Given the description of an element on the screen output the (x, y) to click on. 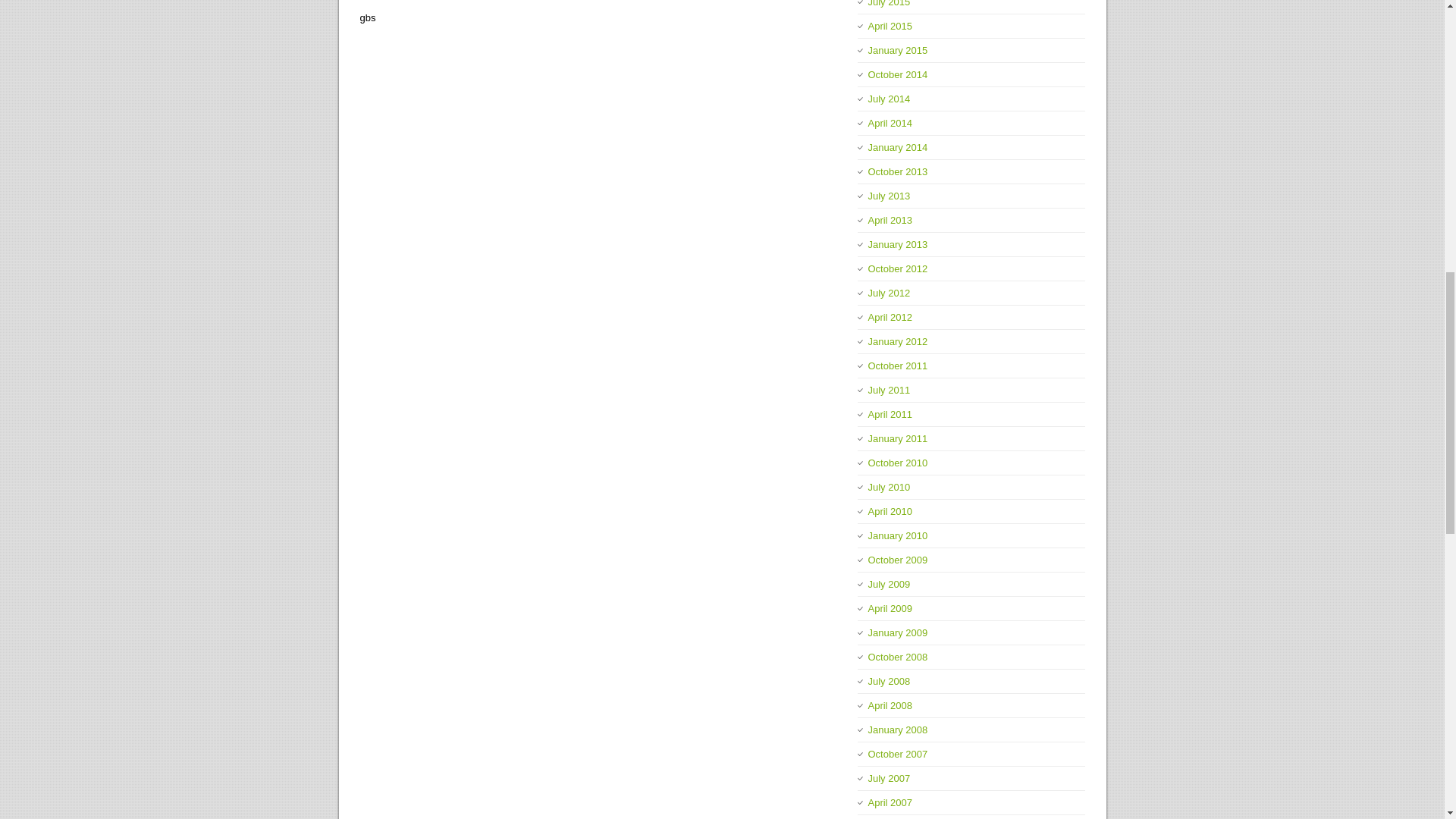
July 2015 (888, 3)
July 2014 (888, 98)
April 2015 (889, 25)
April 2014 (889, 122)
January 2014 (897, 147)
January 2015 (897, 50)
October 2014 (897, 74)
